Given the description of an element on the screen output the (x, y) to click on. 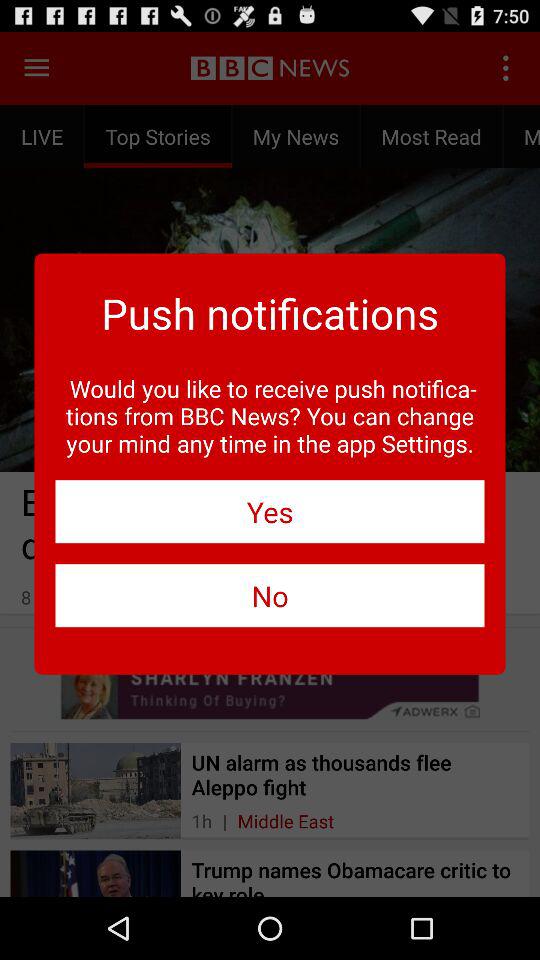
choose the item above no (269, 511)
